Given the description of an element on the screen output the (x, y) to click on. 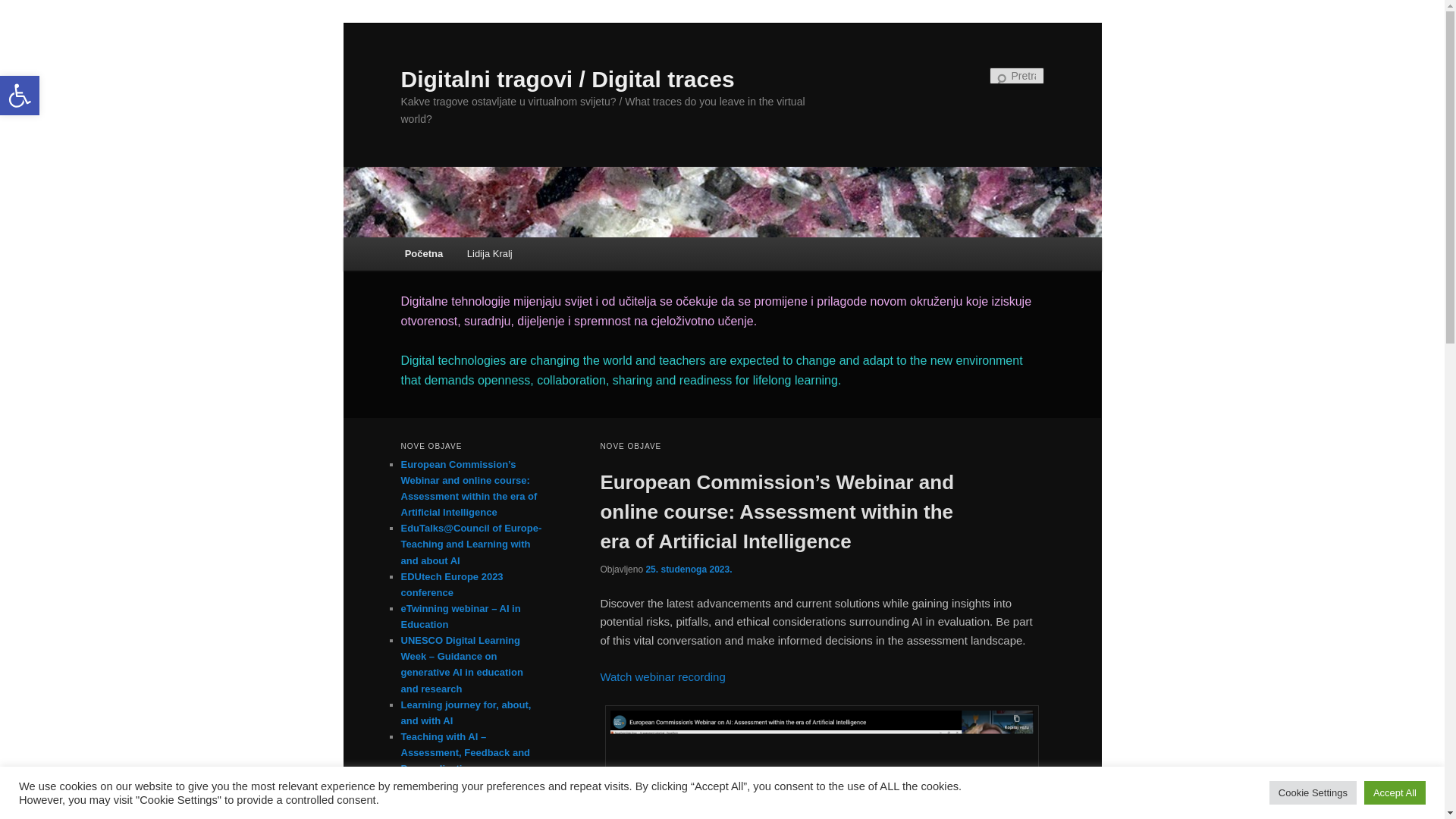
Watch webinar recording (662, 676)
17:32 (688, 569)
Lidija Kralj (489, 253)
25. studenoga 2023. (688, 569)
Accessibility Tools (19, 95)
Open toolbar (19, 95)
EDUtech Europe 2023 conference (451, 584)
